Given the description of an element on the screen output the (x, y) to click on. 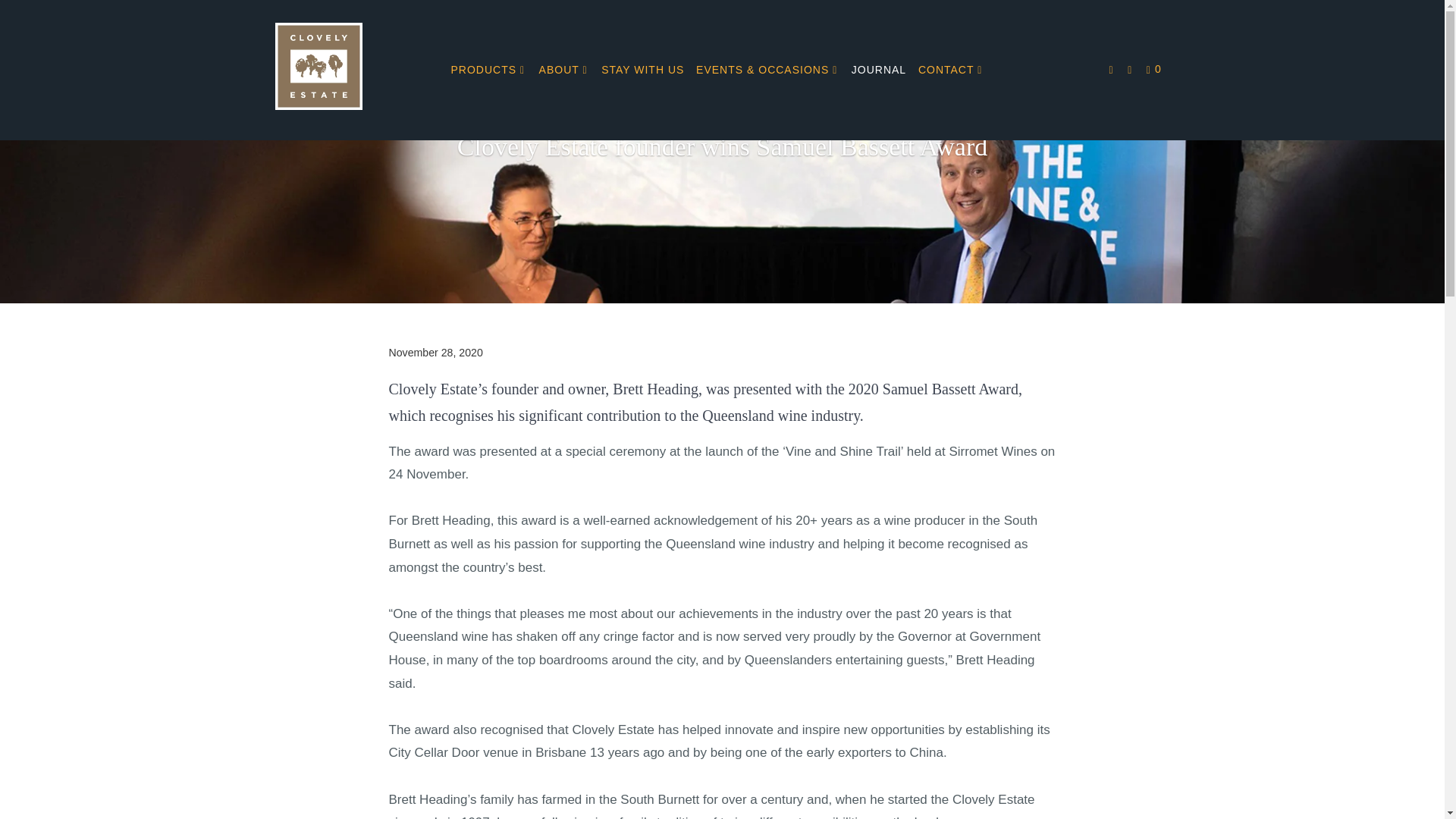
ABOUT (563, 69)
0 (1154, 69)
PRODUCTS (487, 69)
Clovely Estate (352, 70)
